Given the description of an element on the screen output the (x, y) to click on. 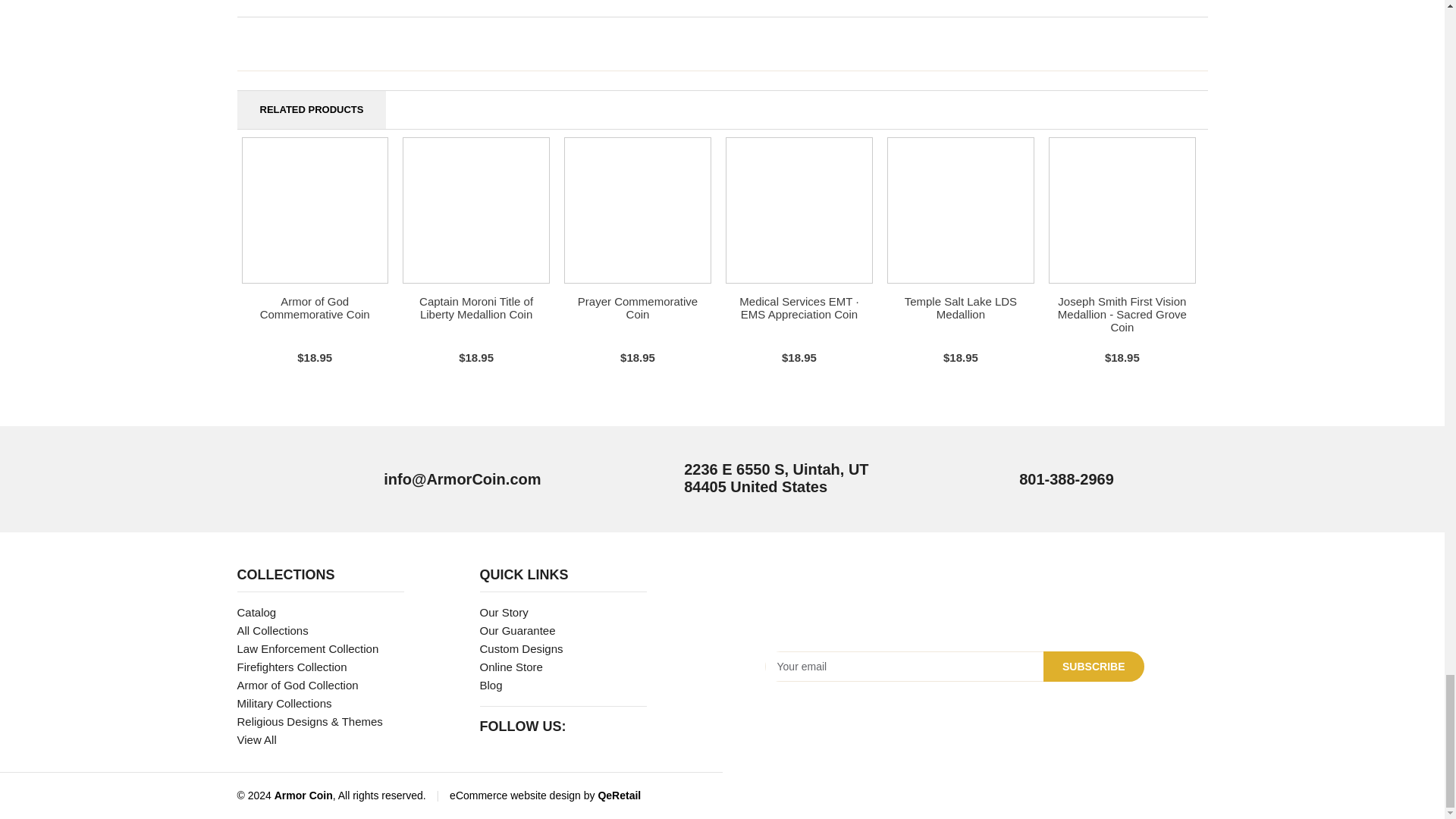
TOP PICK (315, 210)
subscribe (1092, 666)
TOP PICK (637, 210)
Prayer Commemorative Coin (637, 307)
Captain Moroni Title of Liberty Medallion Coin (475, 307)
Armor of God Commemorative Coin (314, 307)
